Given the description of an element on the screen output the (x, y) to click on. 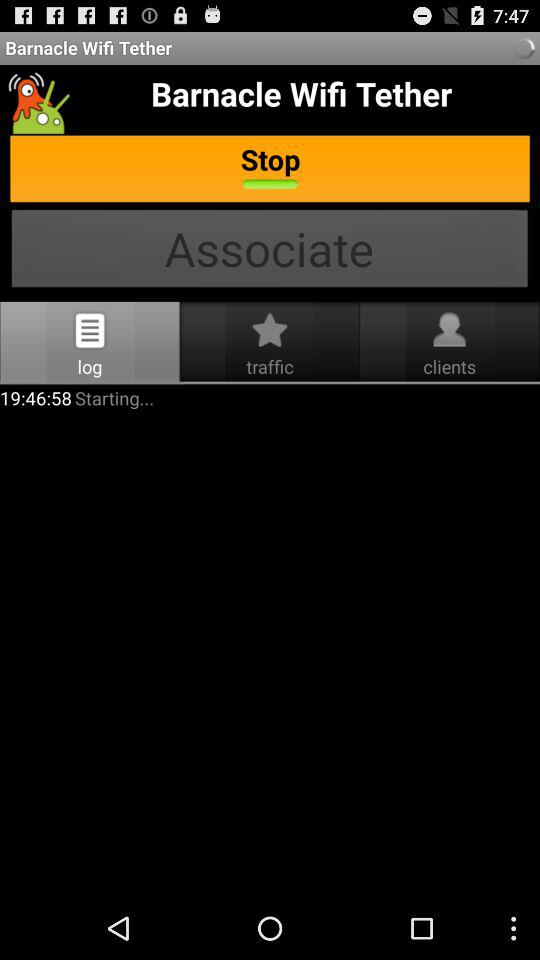
flip to the stop icon (269, 170)
